Given the description of an element on the screen output the (x, y) to click on. 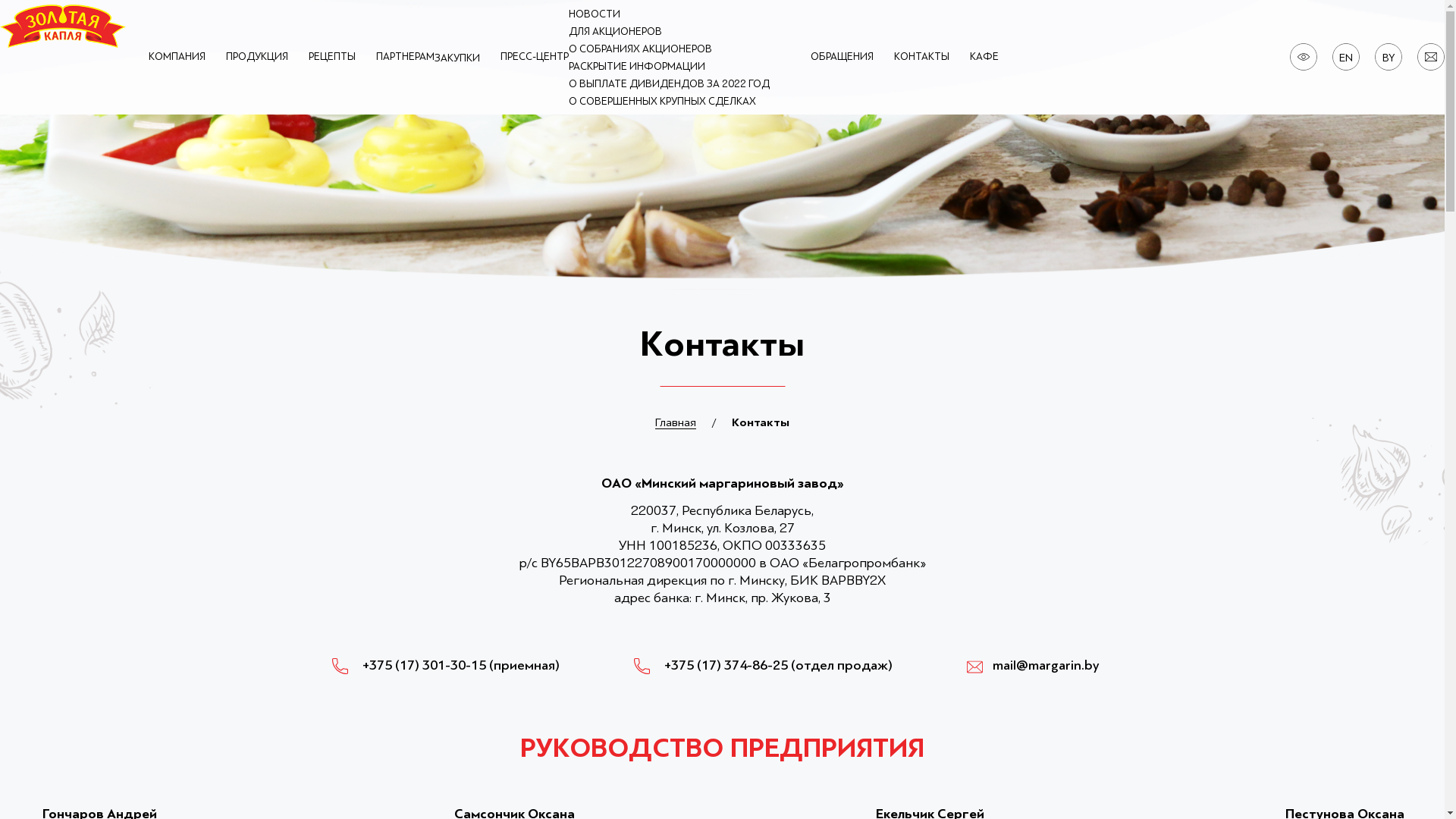
EN Element type: text (1345, 57)
mail@margarin.by Element type: text (1032, 666)
BY Element type: text (1388, 57)
